Given the description of an element on the screen output the (x, y) to click on. 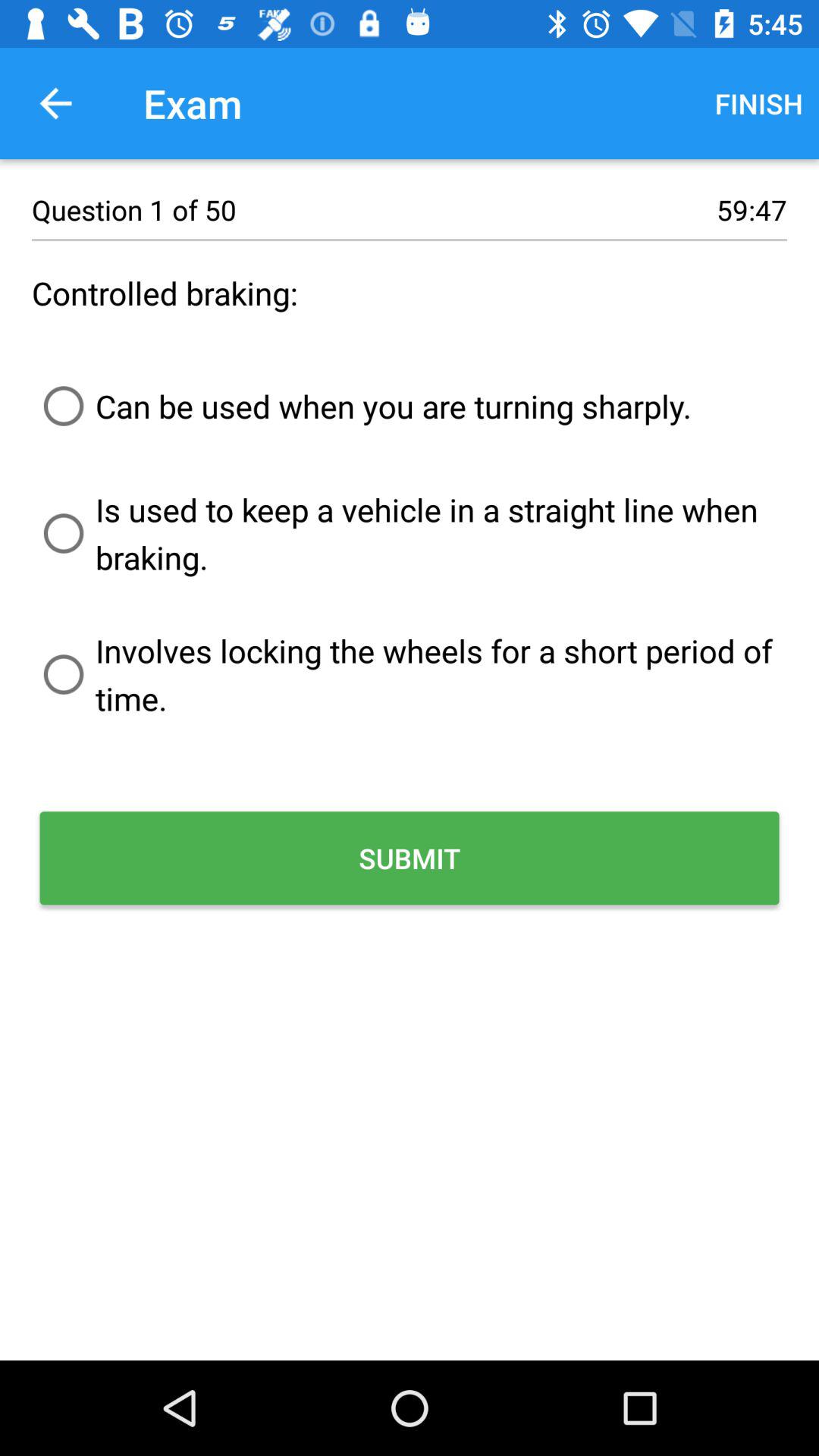
turn on the can be used icon (361, 405)
